Given the description of an element on the screen output the (x, y) to click on. 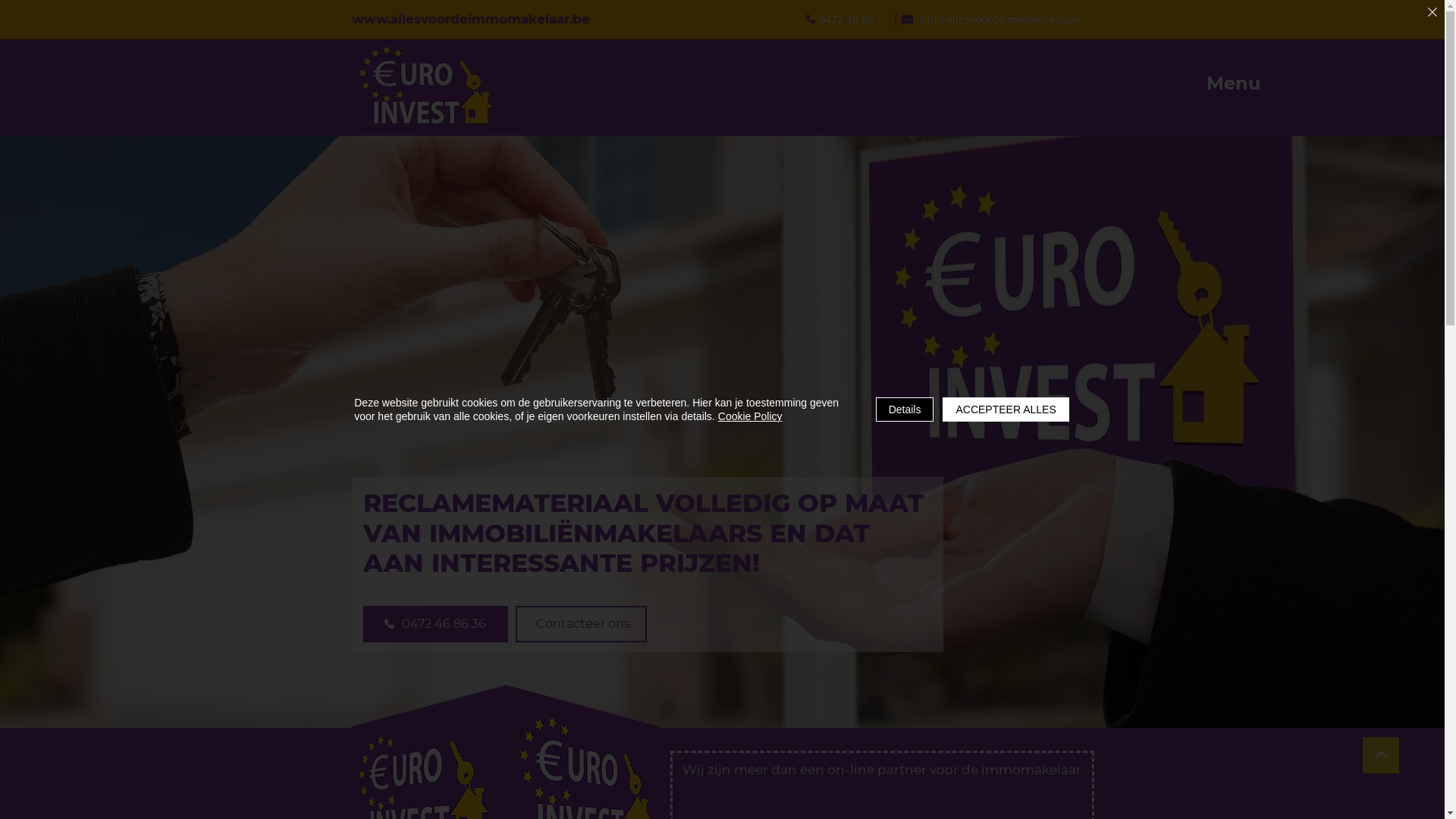
0472 46 86 36 Element type: text (846, 18)
Cookie Policy Element type: text (750, 416)
0472 46 86 36 Element type: text (434, 623)
Contacteer ons Element type: text (580, 623)
www.allesvoordeimmomakelaar.be Element type: text (470, 18)
info@allesvoordeimmomakelaar.be Element type: text (996, 18)
Details Element type: text (904, 409)
ACCEPTEER ALLES Element type: text (1005, 409)
